Given the description of an element on the screen output the (x, y) to click on. 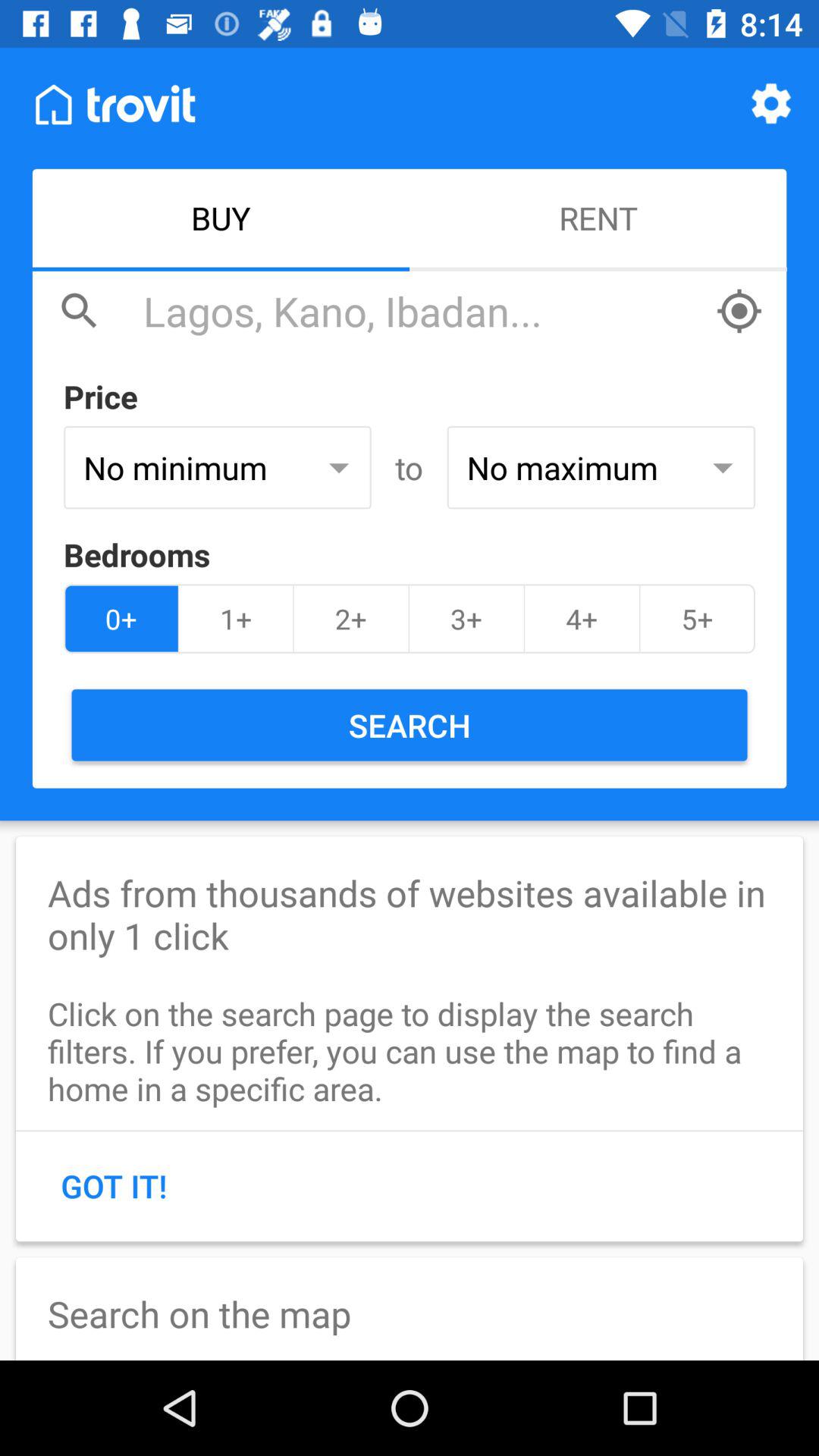
select item next to the 3+ (350, 618)
